Given the description of an element on the screen output the (x, y) to click on. 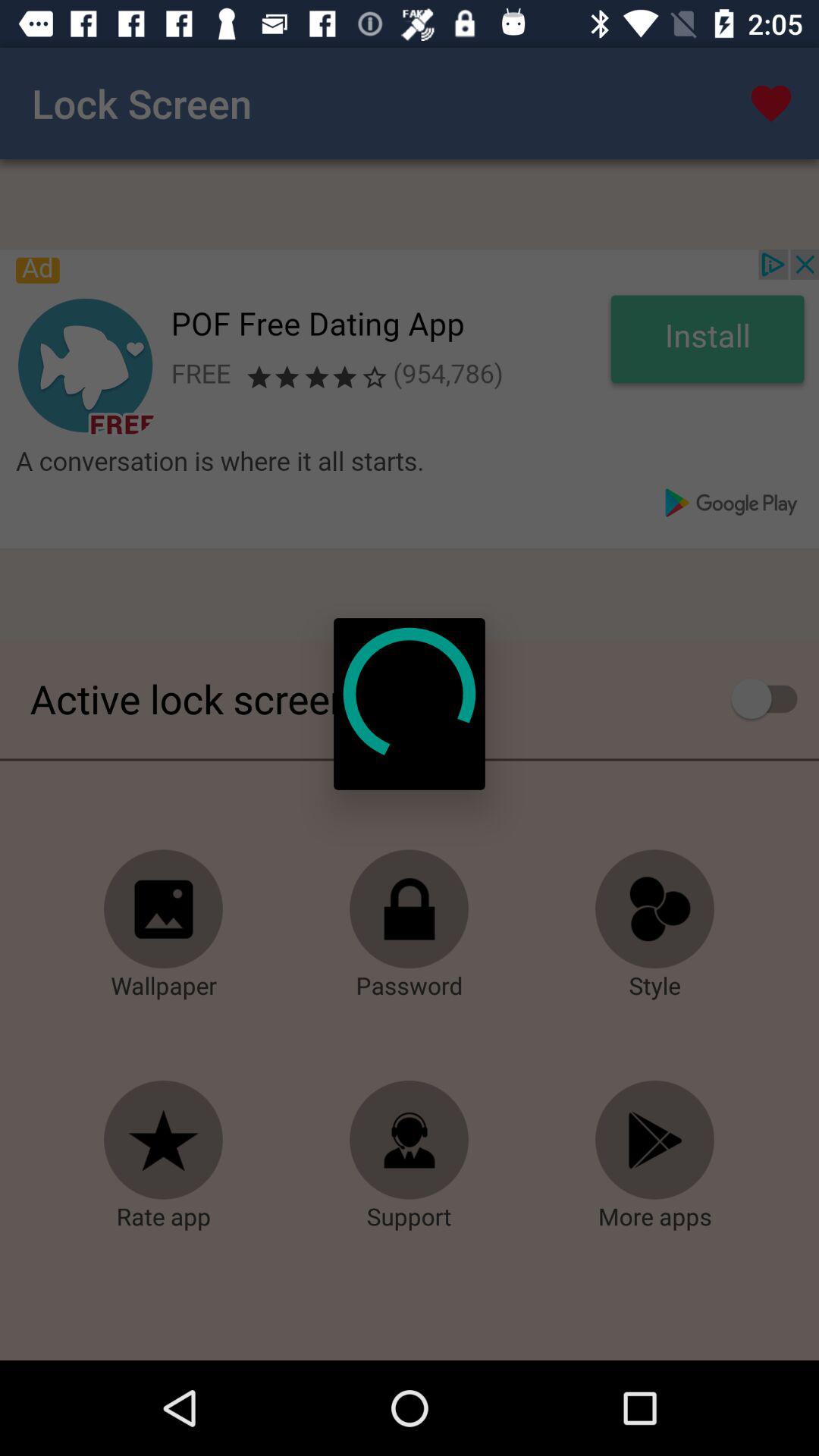
style icon (654, 909)
